Given the description of an element on the screen output the (x, y) to click on. 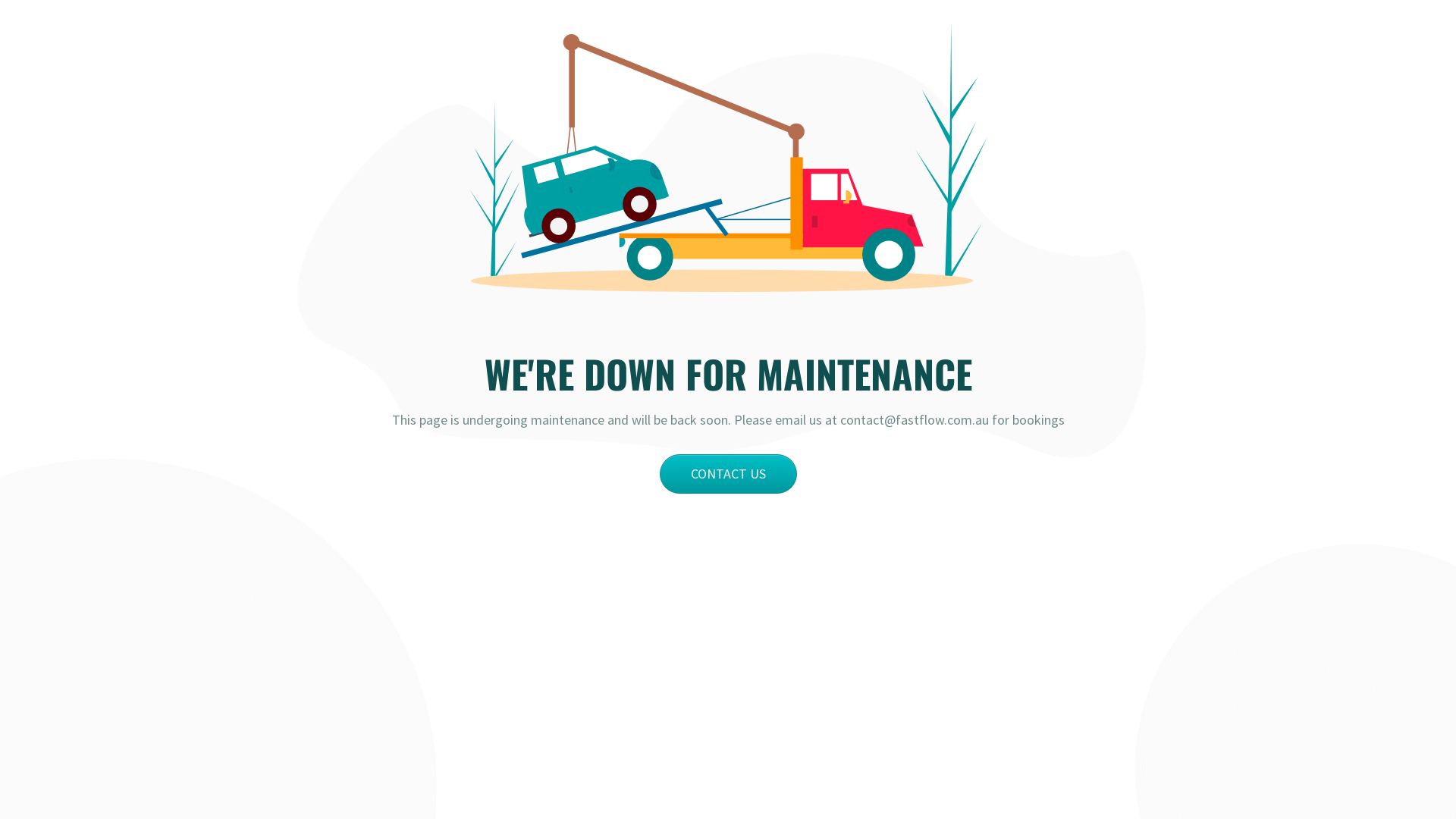
CONTACT US Element type: text (728, 473)
